Given the description of an element on the screen output the (x, y) to click on. 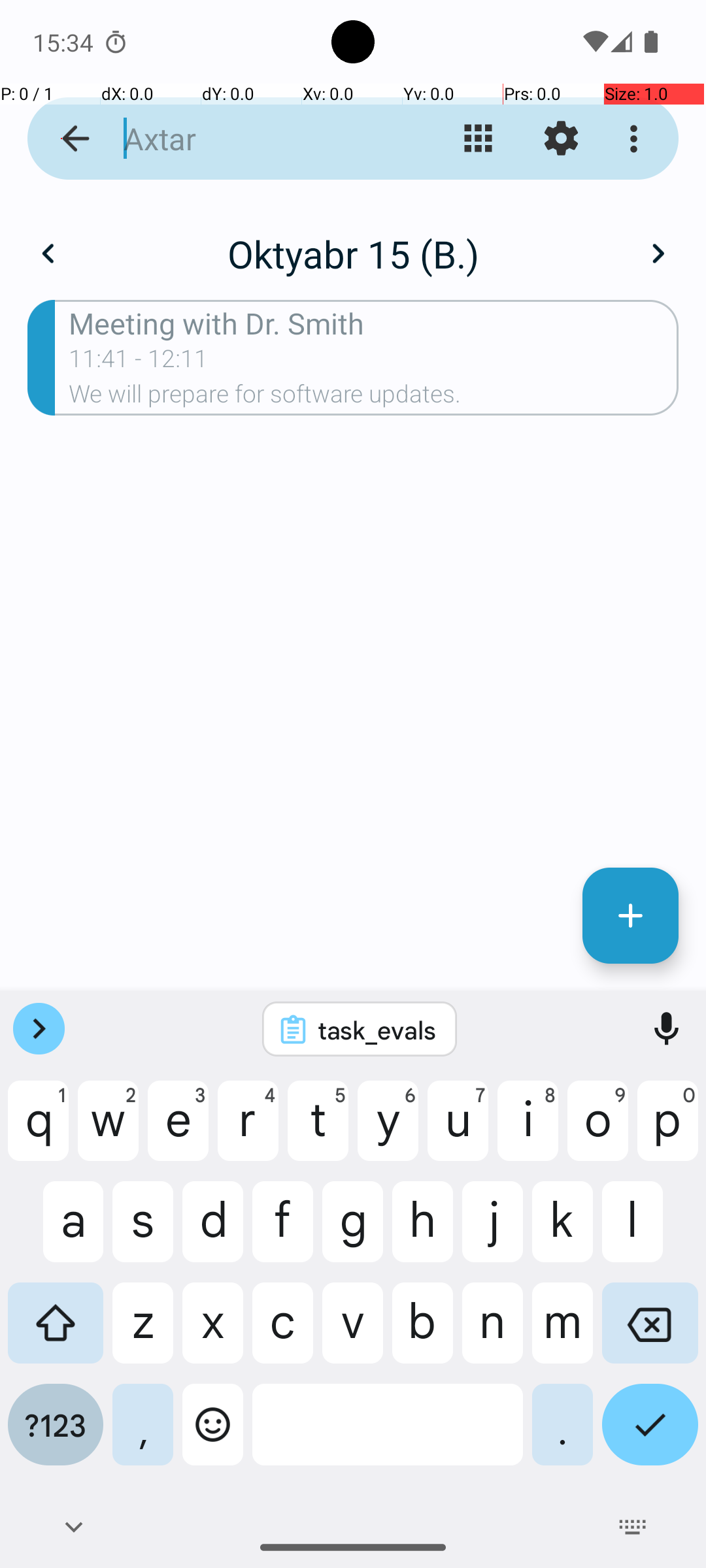
Oktyabr 15 (B.) Element type: android.widget.TextView (352, 253)
11:41 - 12:11 Element type: android.widget.TextView (137, 362)
We will prepare for software updates. Element type: android.widget.TextView (373, 397)
